Given the description of an element on the screen output the (x, y) to click on. 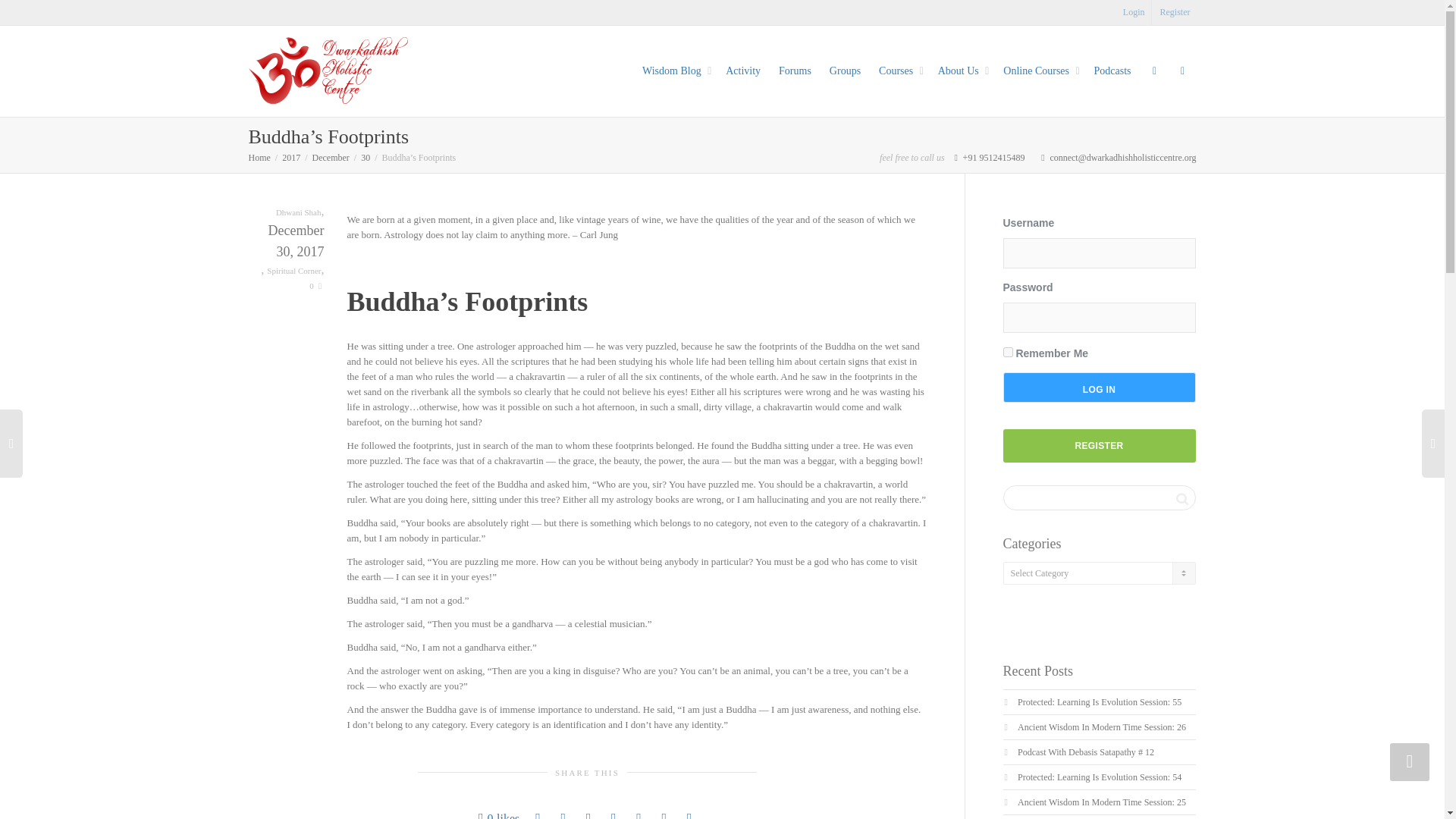
forever (1007, 352)
Dwarkadhish Holistic Centre (327, 70)
Register (1175, 12)
Login (1133, 12)
About Us (961, 71)
Groups (844, 71)
Register (1175, 12)
Search (1181, 498)
Wisdom Blog (674, 71)
Courses (899, 71)
Login (1133, 12)
Forums (794, 71)
Activity (742, 71)
Search (1181, 498)
Wisdom Blog (674, 71)
